Given the description of an element on the screen output the (x, y) to click on. 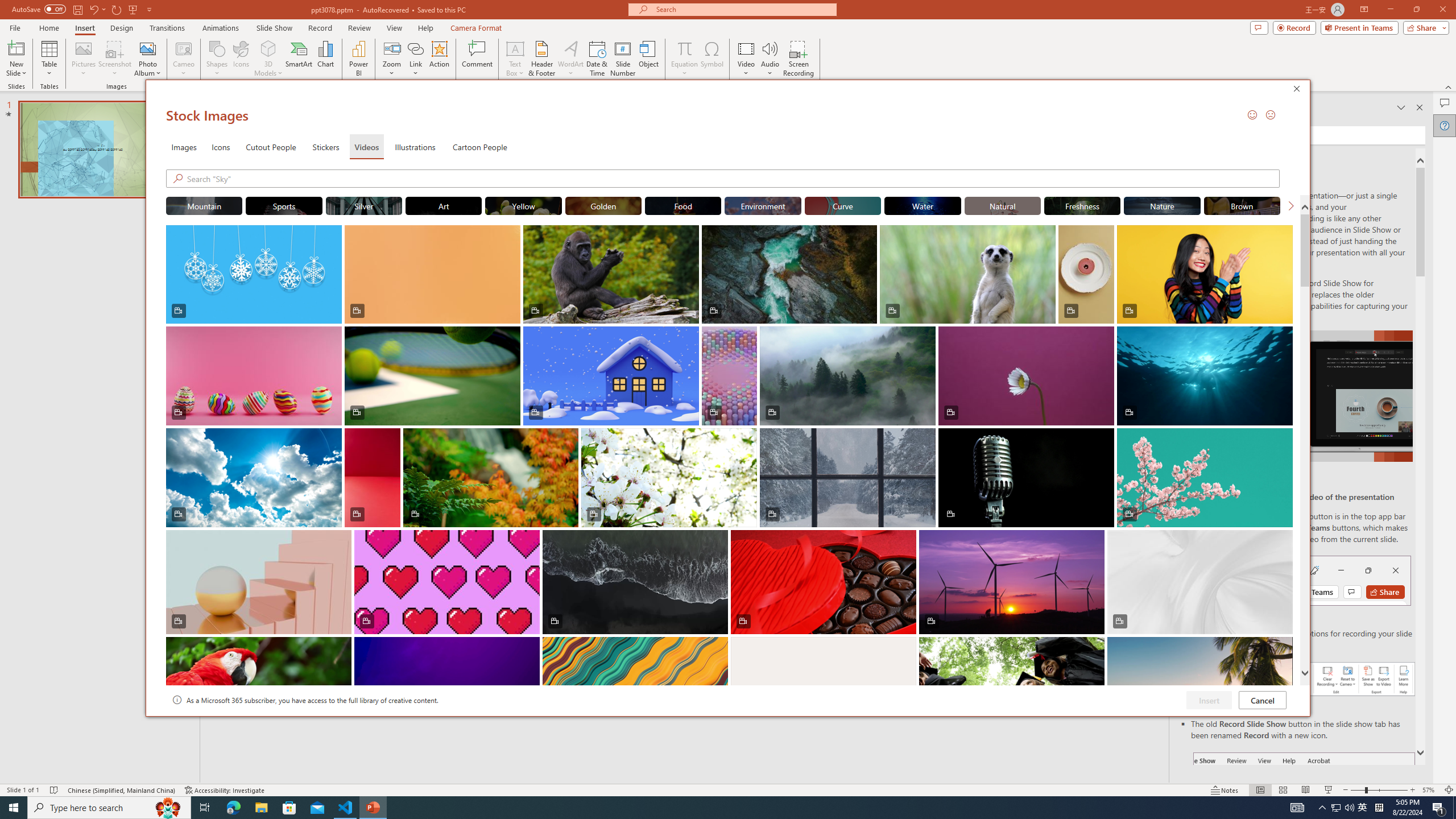
Video (745, 58)
Screenshot (114, 58)
